Given the description of an element on the screen output the (x, y) to click on. 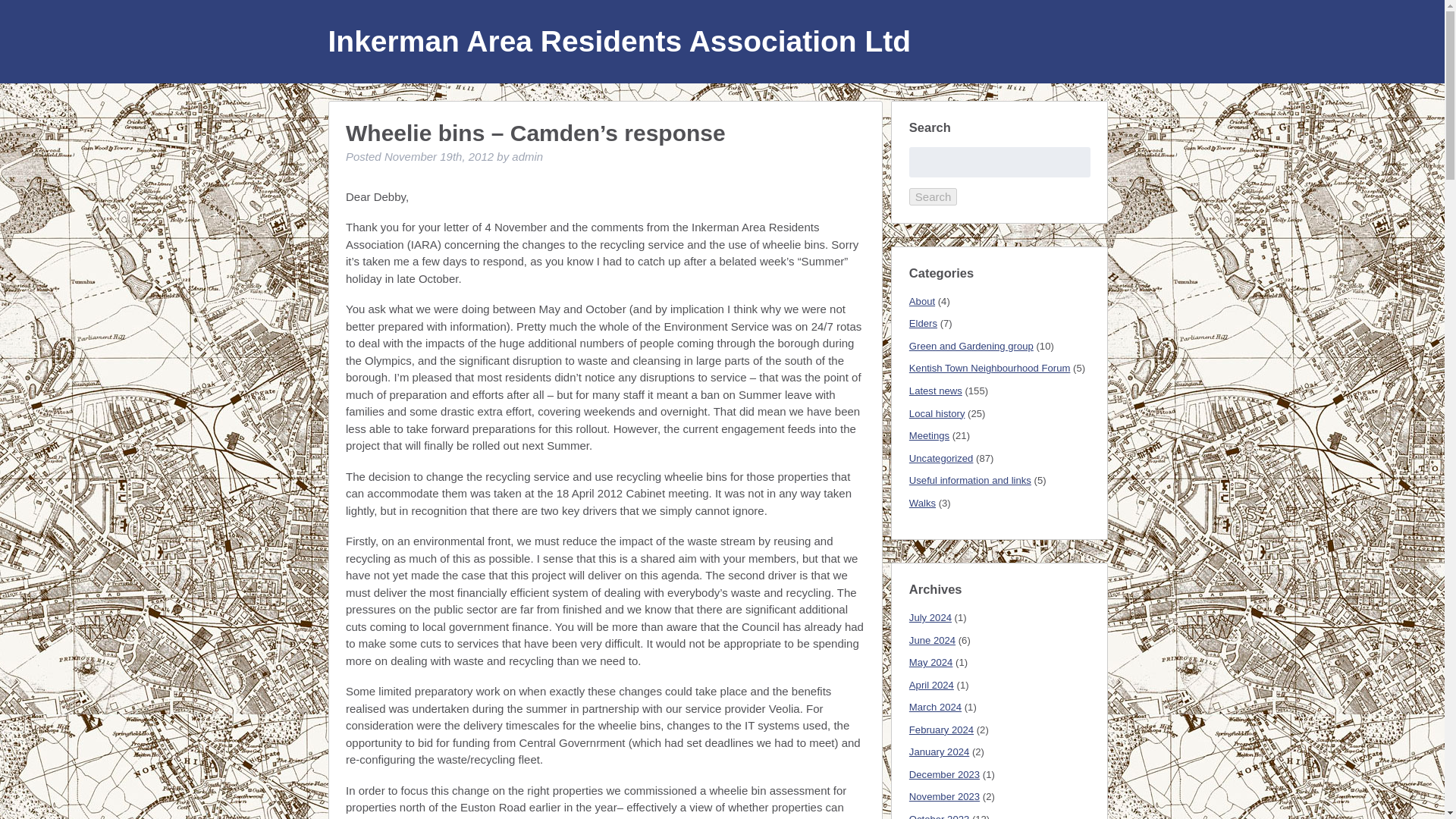
April 2024 (930, 685)
Elders (922, 323)
Kentish Town Neighbourhood Forum (989, 367)
January 2024 (938, 751)
Walks (922, 502)
Inkerman Area Residents Association Ltd (619, 41)
Search (933, 196)
December 2023 (943, 774)
Useful information and links (969, 480)
July 2024 (930, 617)
About (921, 301)
Local history (936, 413)
October 2023 (938, 816)
June 2024 (931, 640)
February 2024 (941, 729)
